Given the description of an element on the screen output the (x, y) to click on. 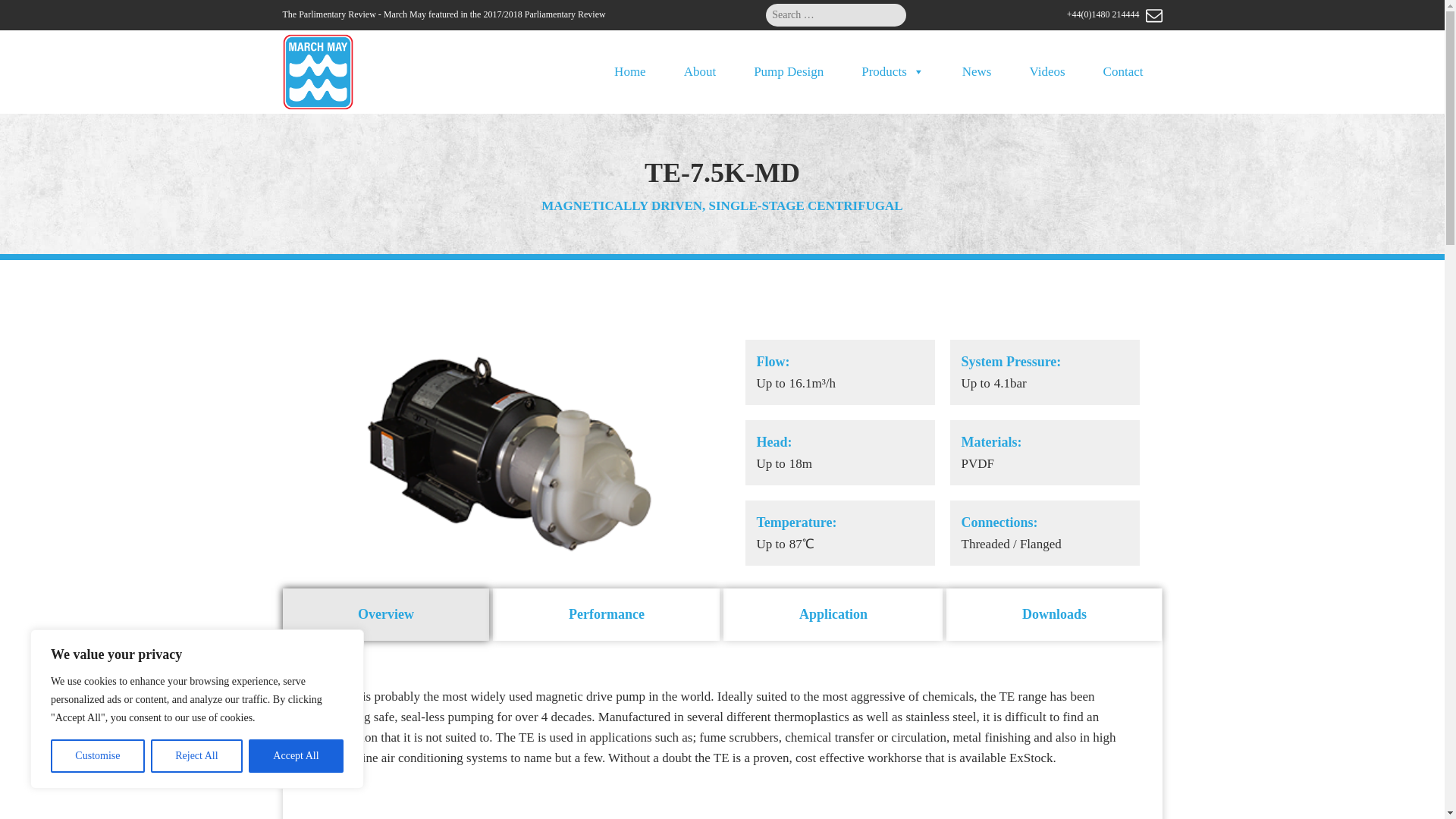
Search (24, 14)
Customise (97, 756)
Pump Design (789, 71)
About (700, 71)
Products (893, 71)
Home (630, 71)
Reject All (197, 756)
Accept All (295, 756)
